Given the description of an element on the screen output the (x, y) to click on. 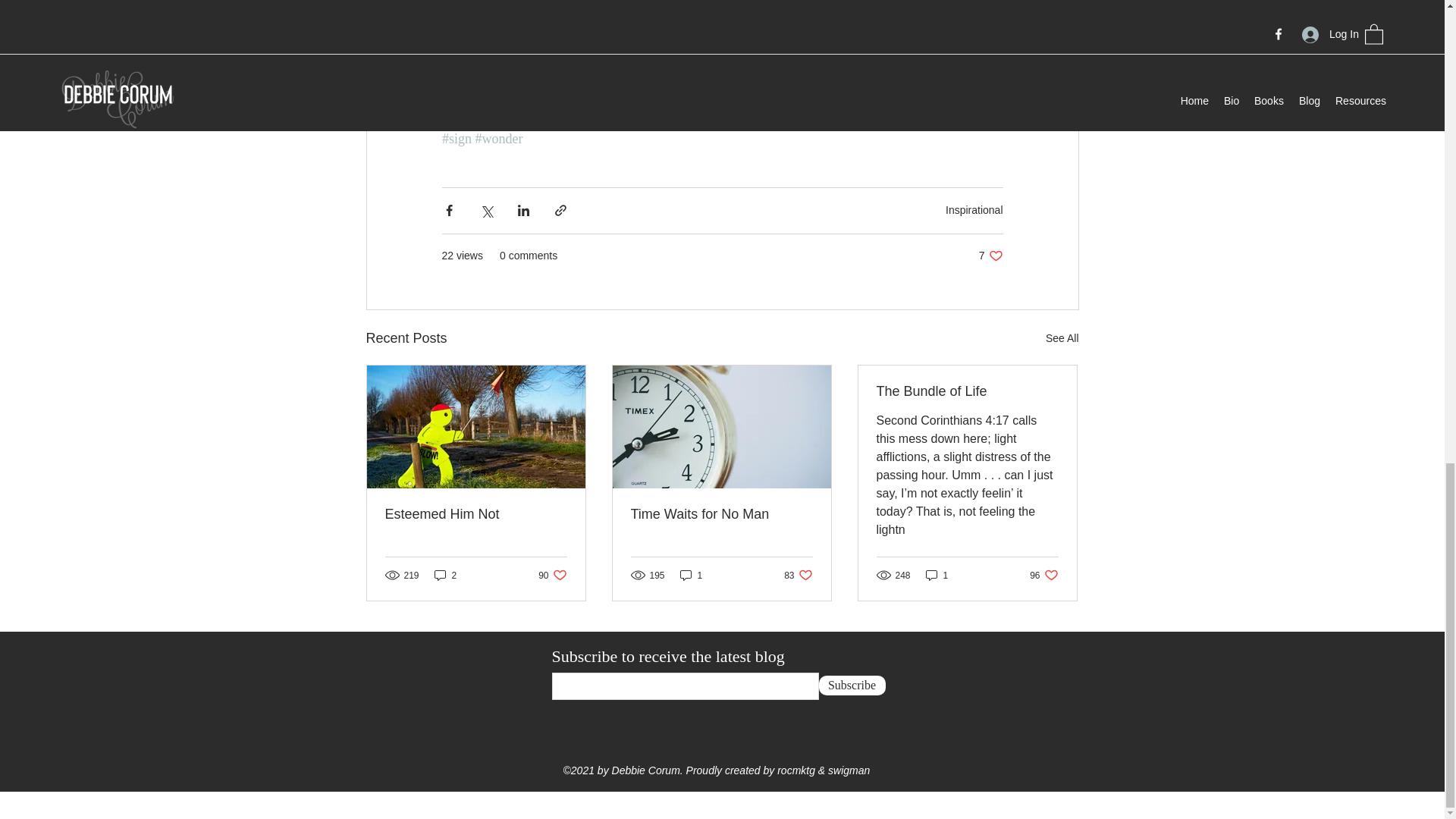
1 (937, 575)
Subscribe (851, 685)
Time Waits for No Man (1043, 575)
Esteemed Him Not (990, 255)
See All (798, 575)
Inspirational (721, 514)
2 (476, 514)
The Bundle of Life (1061, 338)
1 (973, 209)
